Given the description of an element on the screen output the (x, y) to click on. 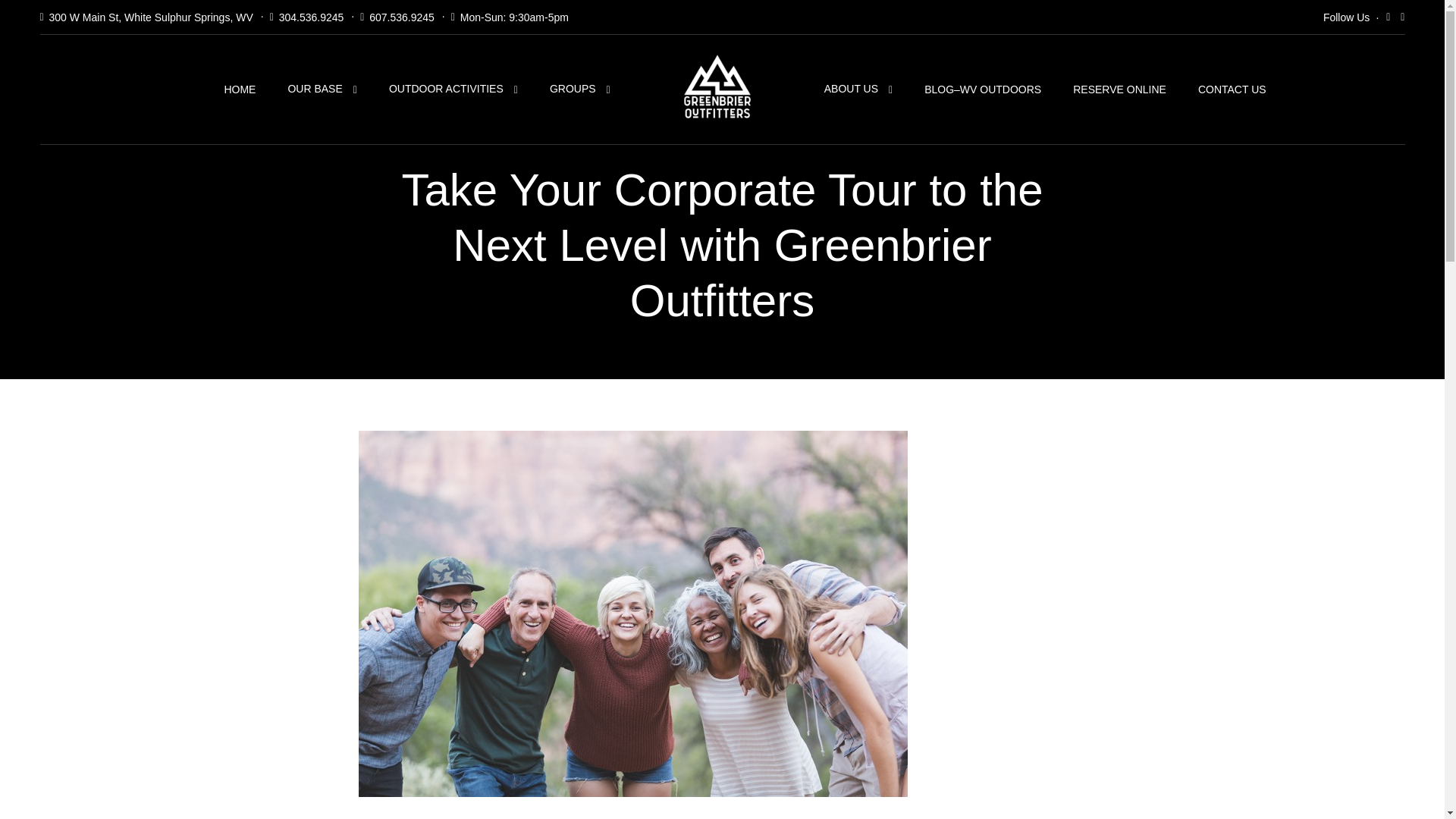
OUR BASE (321, 89)
May 15, 2020 (436, 818)
CONTACT US (1232, 88)
RESERVE ONLINE (1119, 88)
Hampton Masden (531, 818)
Lifestyle (376, 818)
304.536.9245 (311, 17)
ABOUT US (858, 89)
607.536.9245 (401, 17)
GROUPS (580, 89)
HOME (239, 88)
OUTDOOR ACTIVITIES (453, 89)
